Given the description of an element on the screen output the (x, y) to click on. 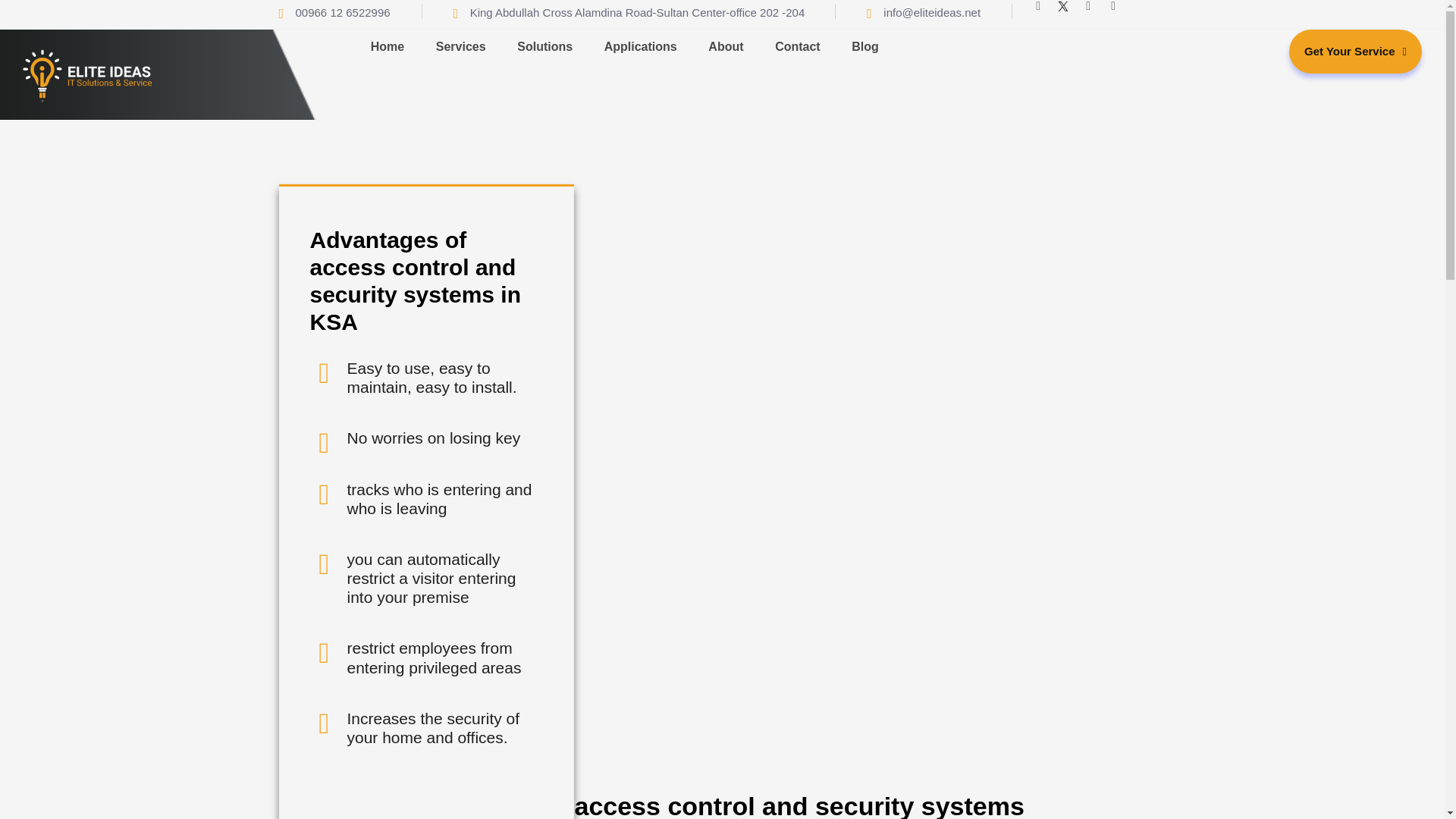
Home (387, 46)
Services (460, 46)
Solutions (545, 46)
